Given the description of an element on the screen output the (x, y) to click on. 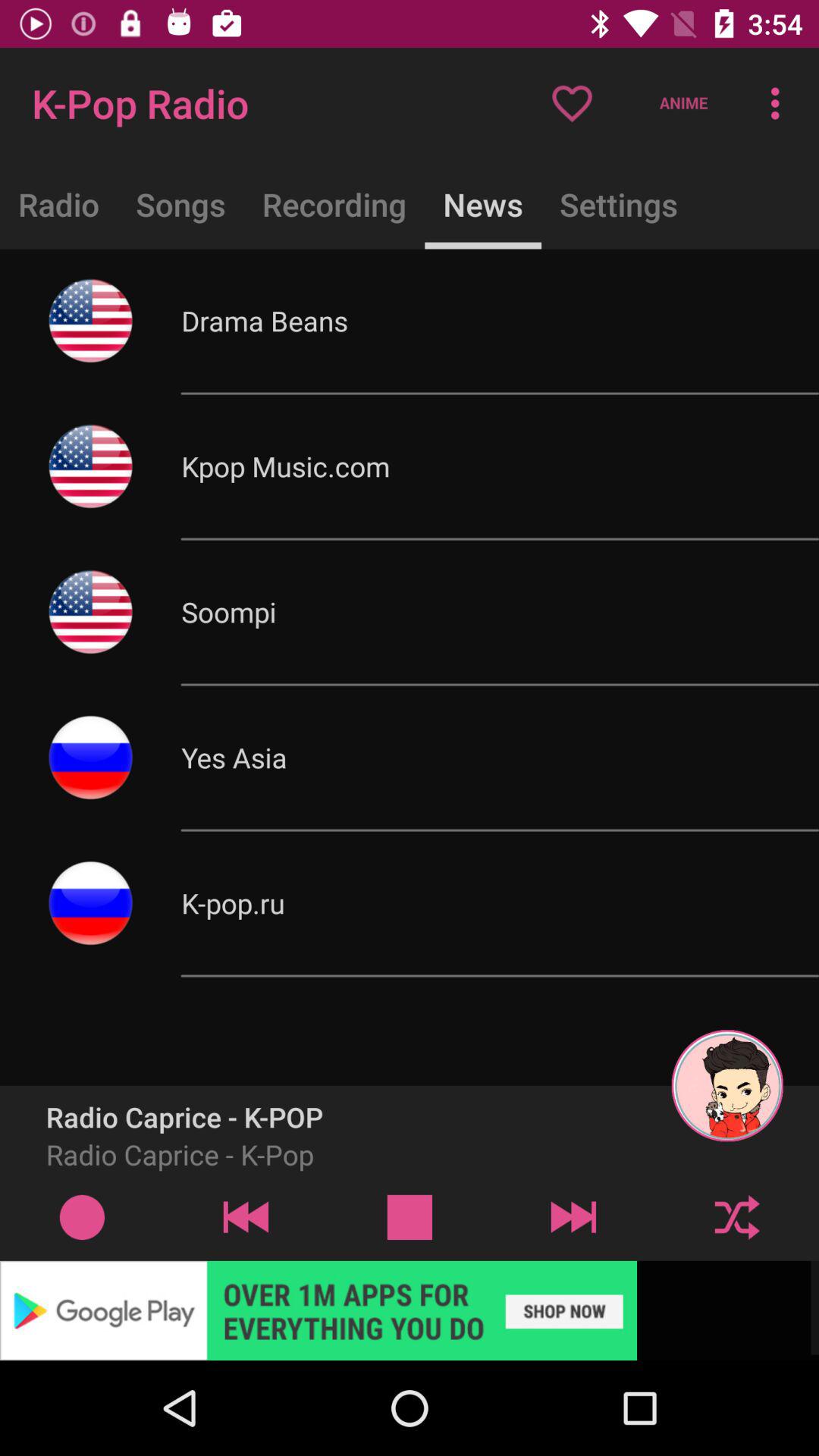
play store (409, 1310)
